Given the description of an element on the screen output the (x, y) to click on. 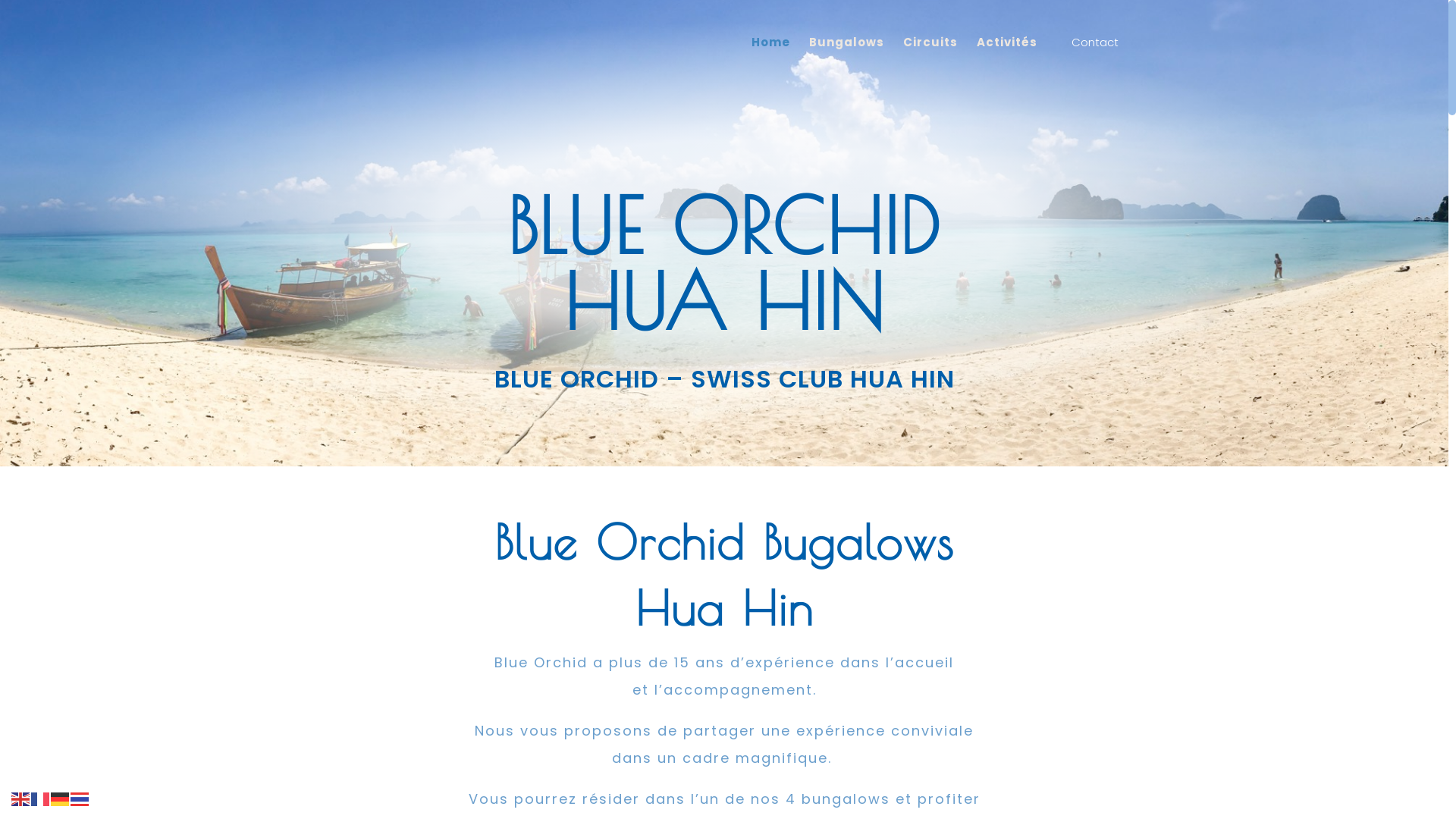
Home Element type: text (770, 52)
Thai Element type: hover (80, 797)
Contact Element type: text (1094, 42)
German Element type: hover (60, 797)
Circuits Element type: text (930, 52)
English Element type: hover (21, 797)
French Element type: hover (40, 797)
Bungalows Element type: text (846, 52)
